Given the description of an element on the screen output the (x, y) to click on. 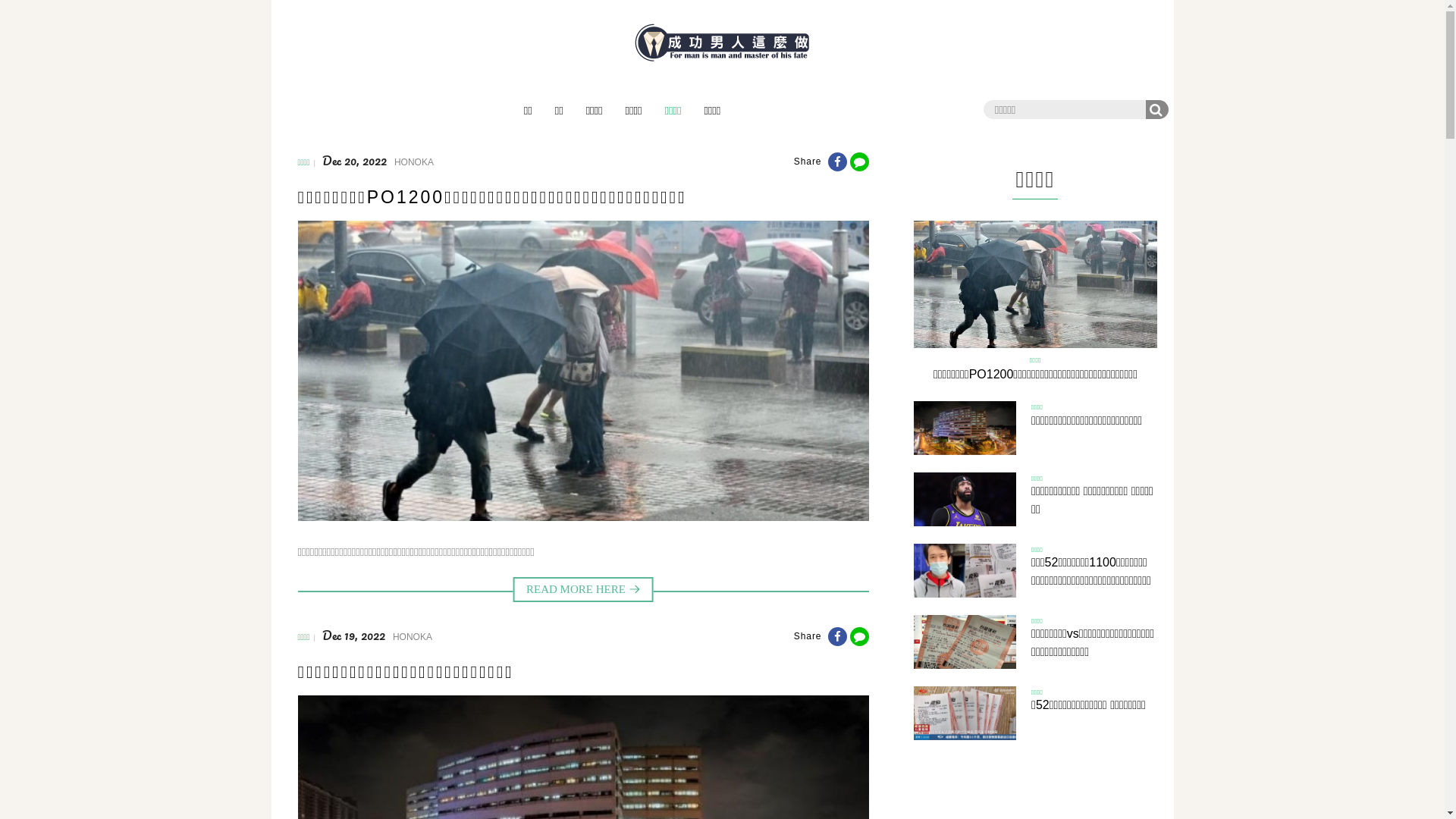
HONOKA Element type: text (412, 636)
HONOKA Element type: text (413, 161)
